Given the description of an element on the screen output the (x, y) to click on. 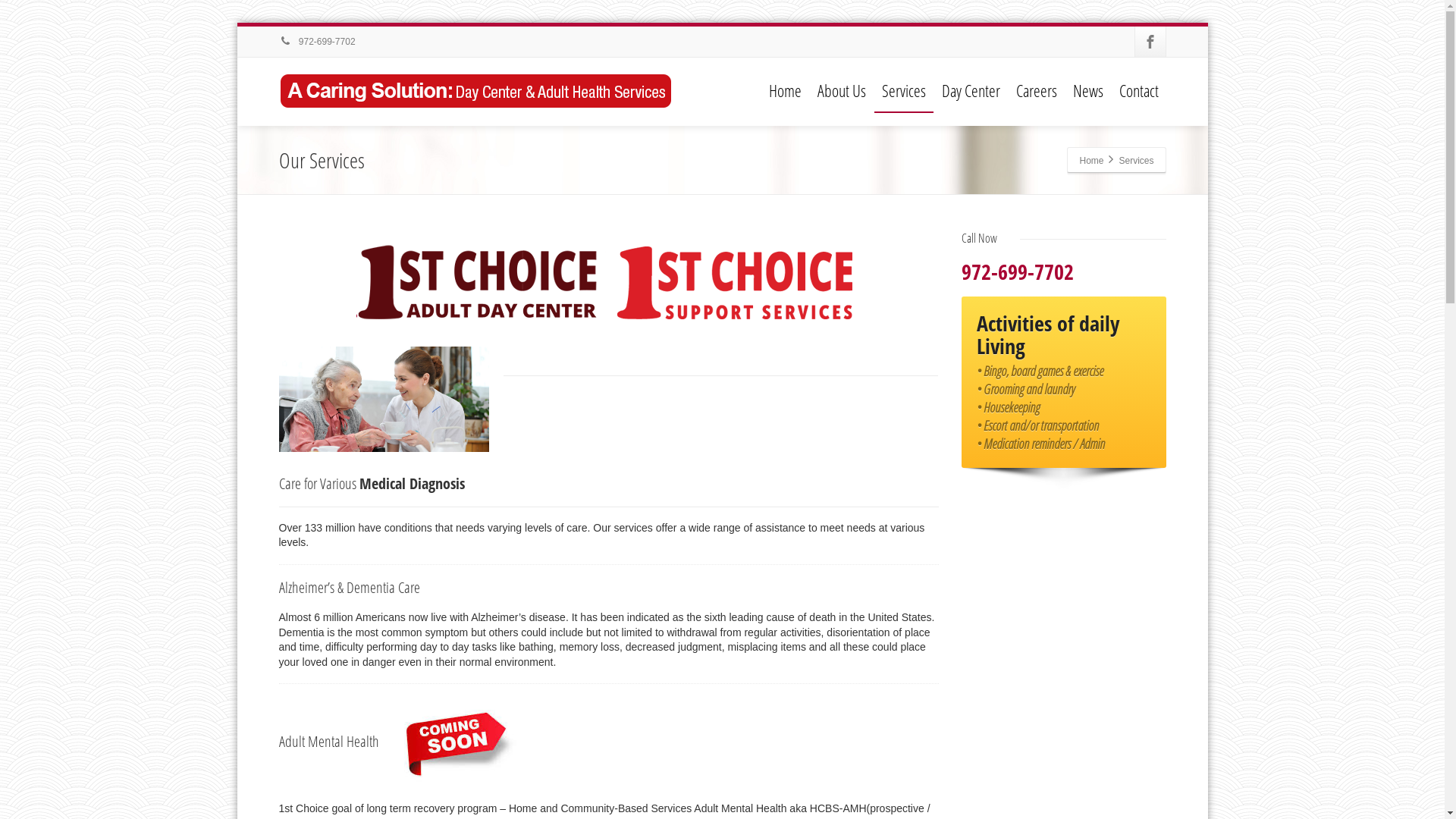
Careers Element type: text (1036, 90)
Day Center Element type: text (970, 90)
Contact Element type: text (1138, 90)
Home Element type: text (1091, 159)
Services Element type: text (902, 90)
About Us Element type: text (841, 90)
1st-choice-logo-new-red Element type: hover (608, 281)
News Element type: text (1087, 90)
Facebook Element type: hover (1149, 41)
972-699-7702 Element type: text (317, 41)
Home Element type: text (785, 90)
